Given the description of an element on the screen output the (x, y) to click on. 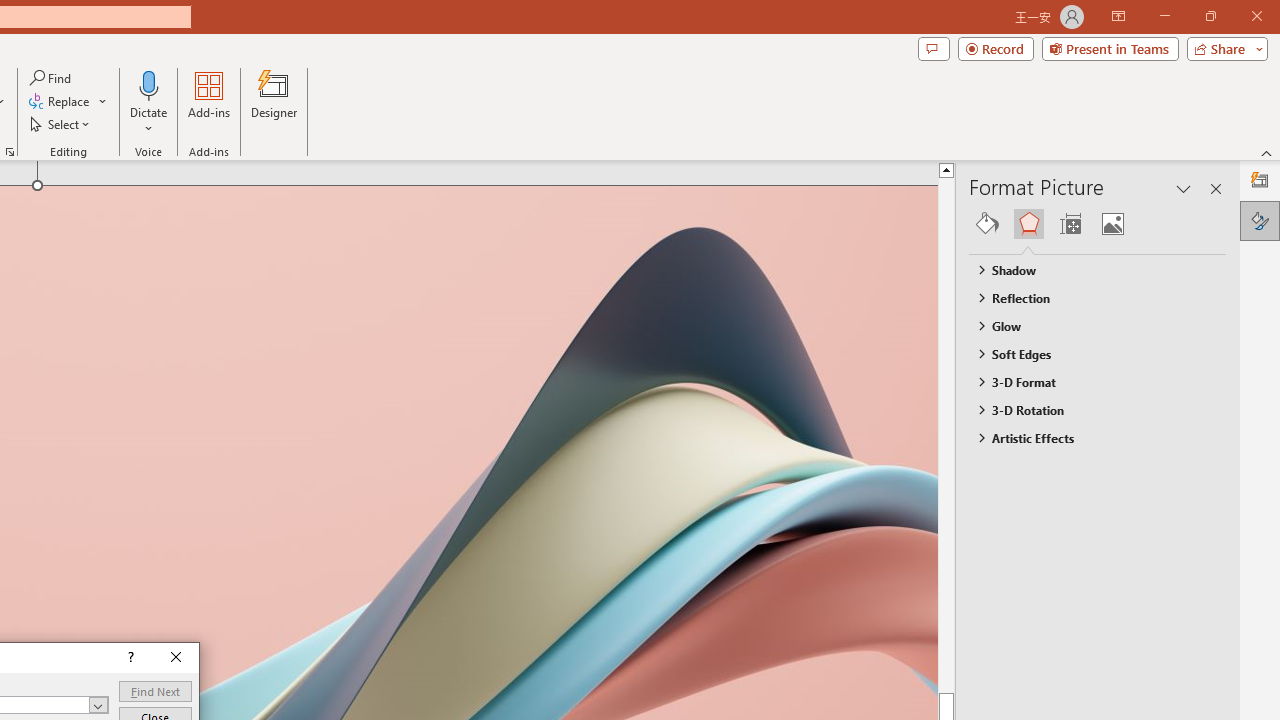
Reflection (1088, 297)
Artistic Effects (1088, 438)
Class: NetUIGalleryContainer (1098, 223)
Context help (129, 657)
